Given the description of an element on the screen output the (x, y) to click on. 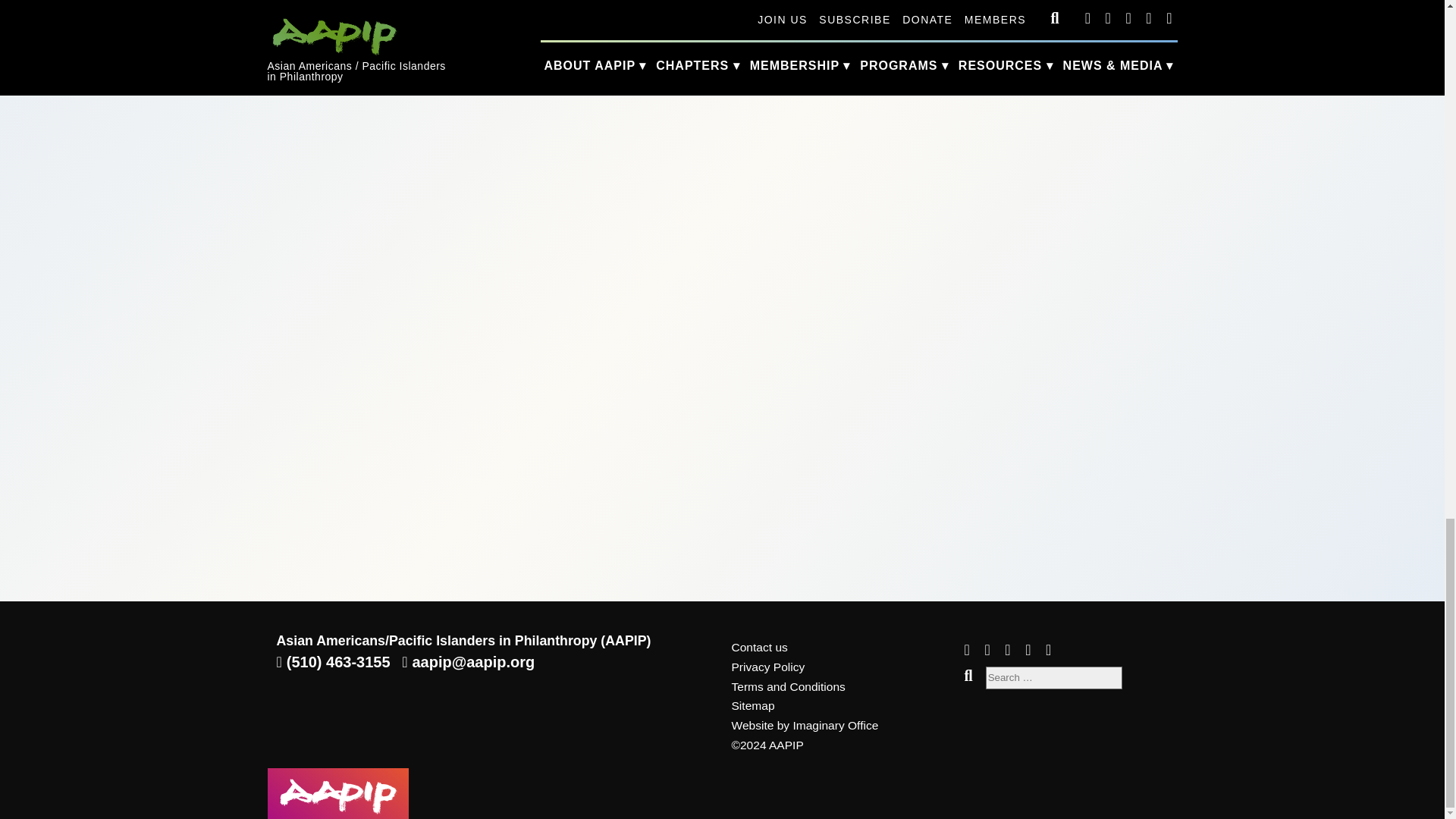
Link to our Linkedin page (1027, 649)
Link to our Instagram page (966, 649)
Link to our Facebook page (986, 649)
Link to our Twitter page (1006, 649)
Link to our YouTube page (1049, 649)
